Given the description of an element on the screen output the (x, y) to click on. 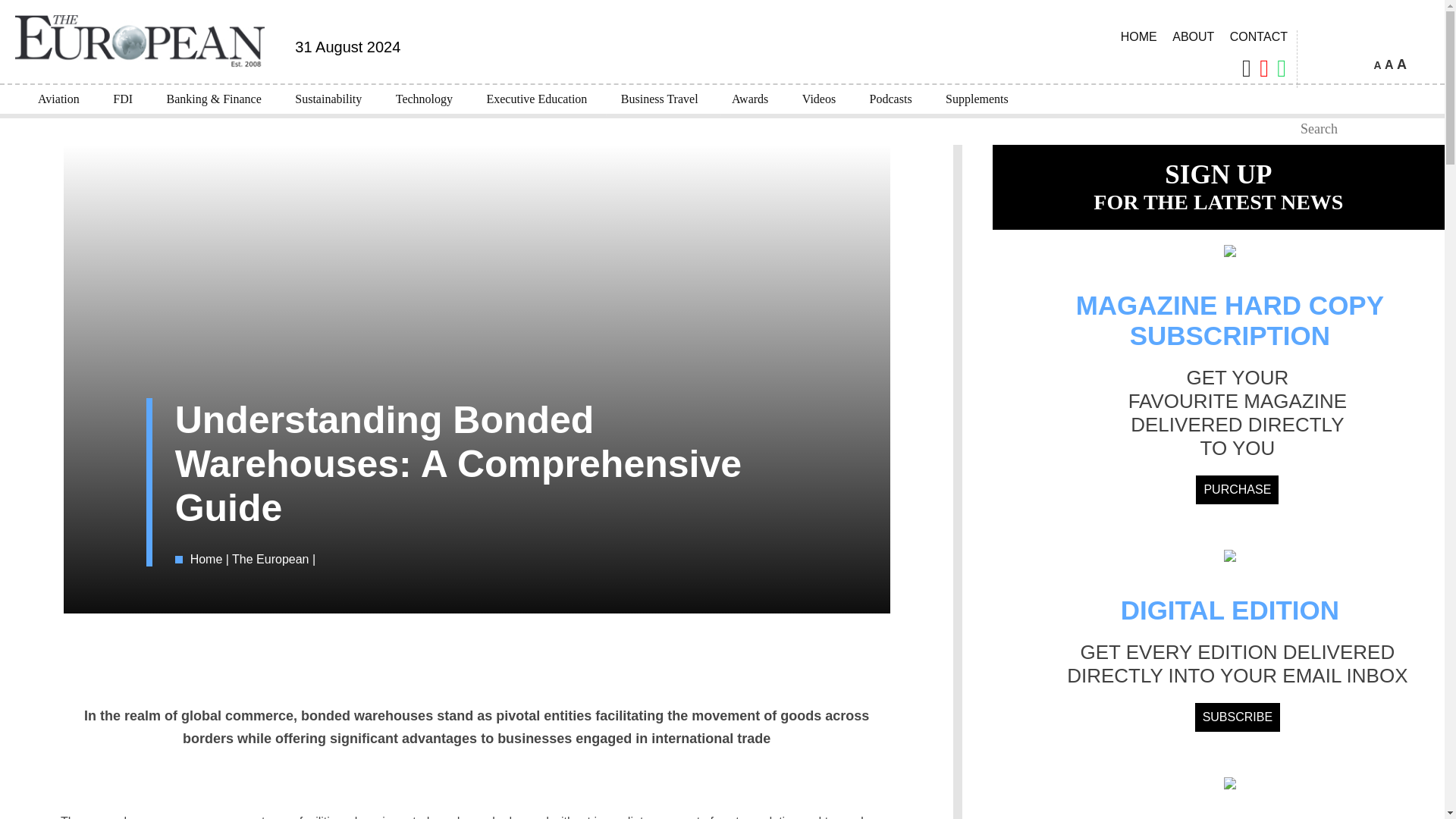
The European (272, 558)
Aviation (58, 99)
FDI (122, 99)
Awards (749, 99)
ABOUT (1193, 36)
Technology (423, 99)
Business Travel (659, 99)
Search (1284, 128)
Search (1284, 128)
HOME (1139, 36)
